Given the description of an element on the screen output the (x, y) to click on. 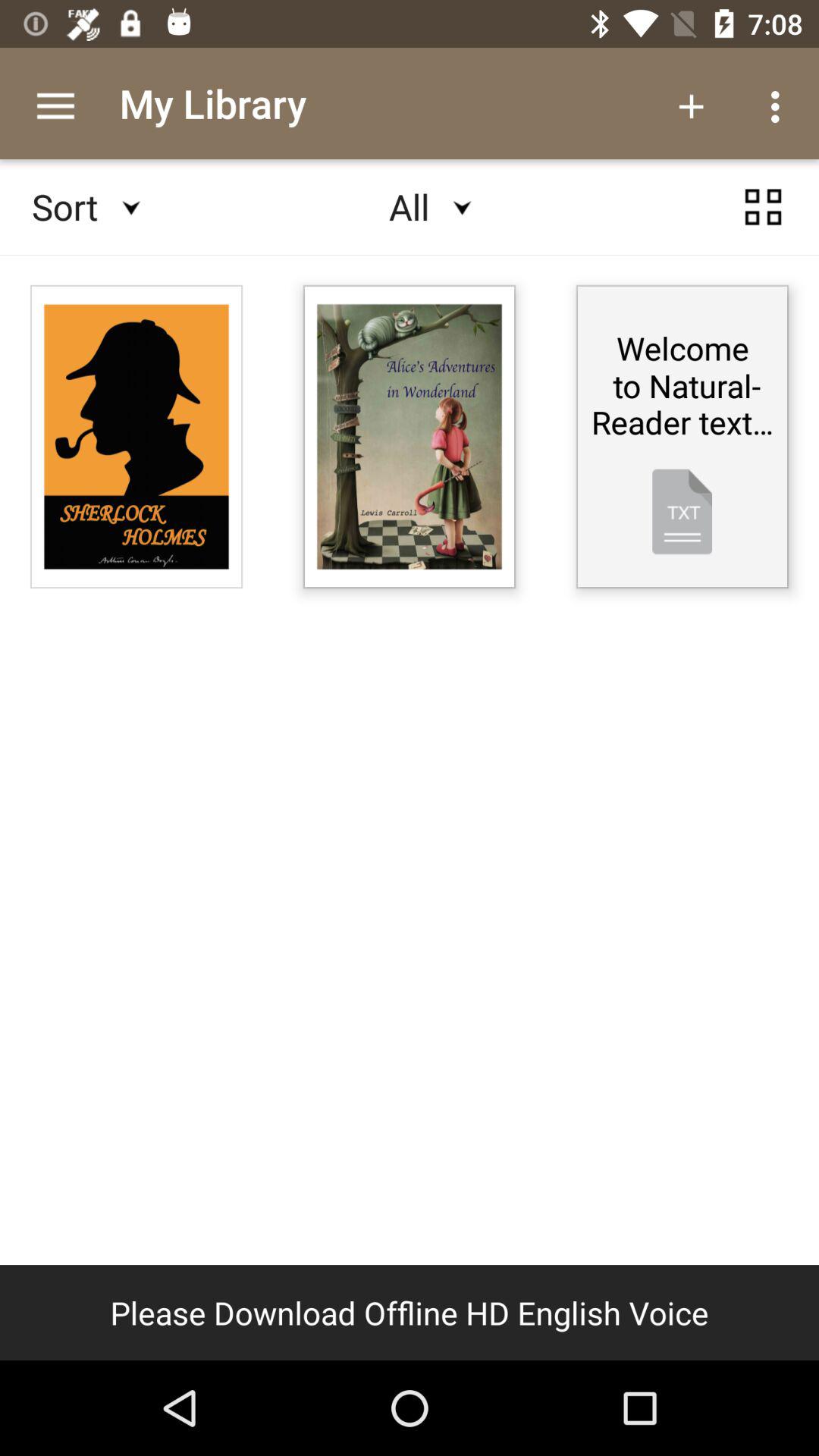
go to menu (763, 206)
